Given the description of an element on the screen output the (x, y) to click on. 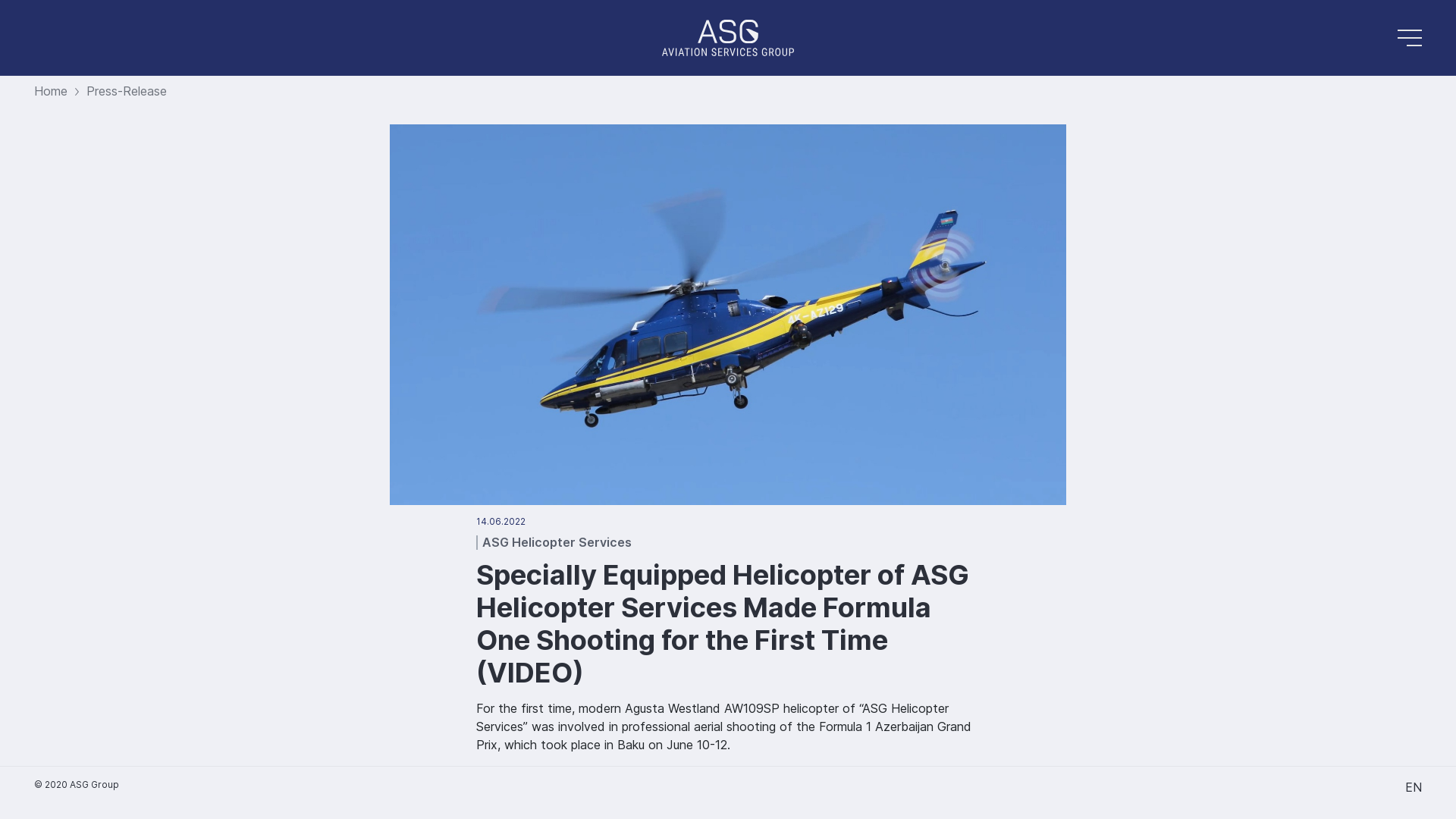
EN Element type: text (1413, 787)
Home Element type: text (50, 90)
Press-Release Element type: text (126, 90)
